Given the description of an element on the screen output the (x, y) to click on. 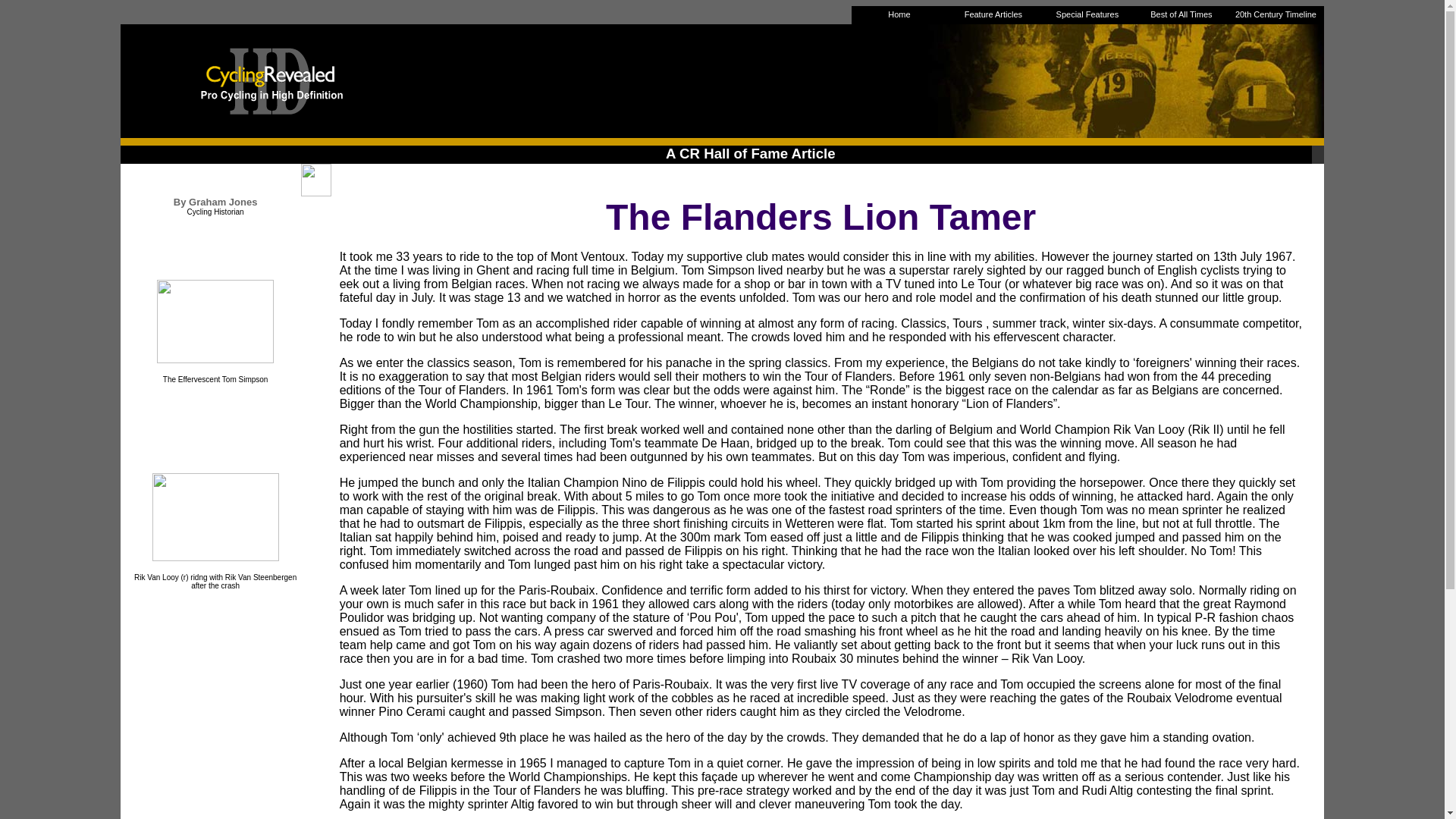
Feature Articles (992, 13)
Home (899, 13)
20th Century Timeline (1275, 13)
Special Features (1088, 13)
Best of All Times (1180, 13)
